Given the description of an element on the screen output the (x, y) to click on. 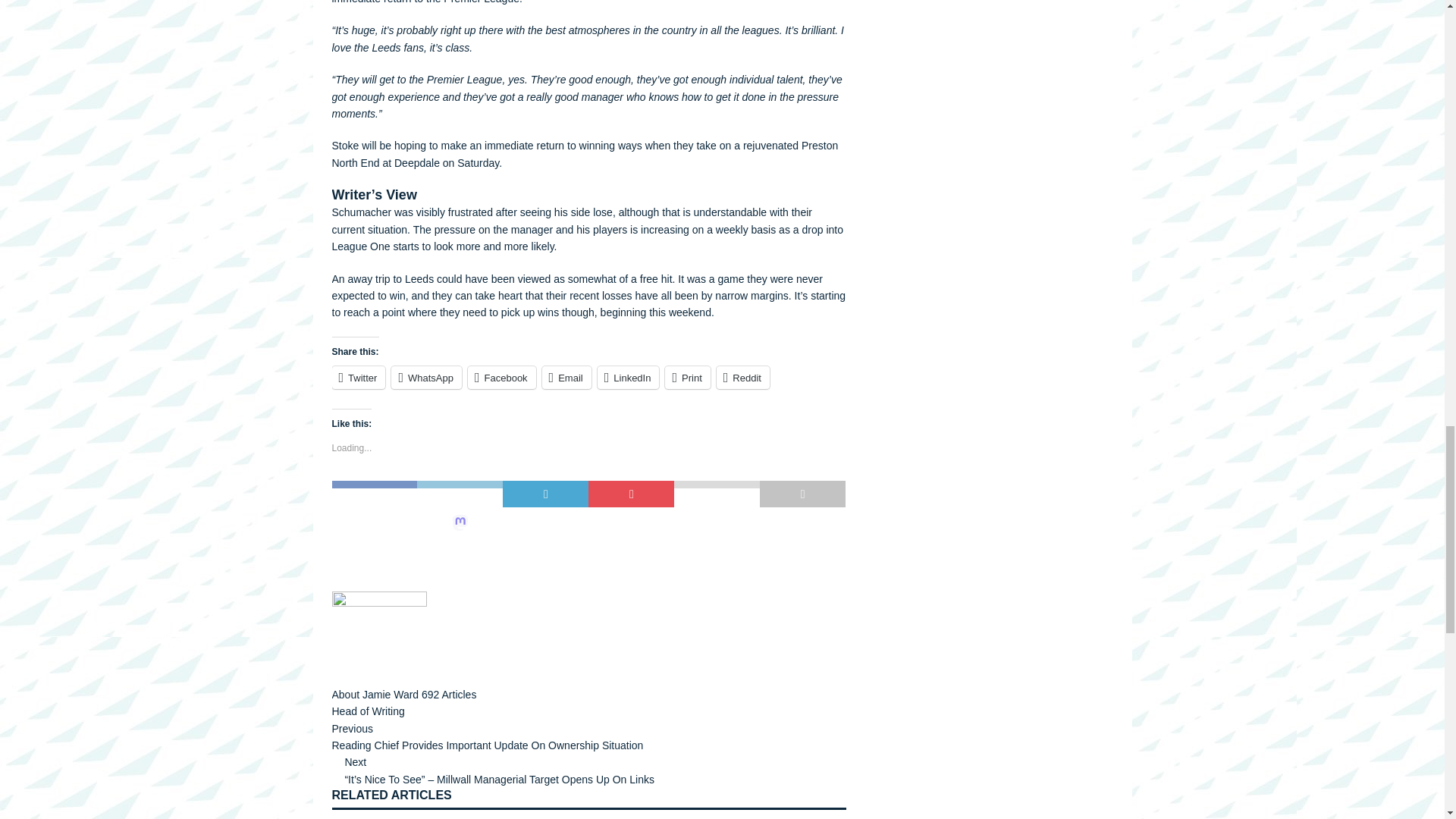
Click to share on Twitter (358, 377)
